Given the description of an element on the screen output the (x, y) to click on. 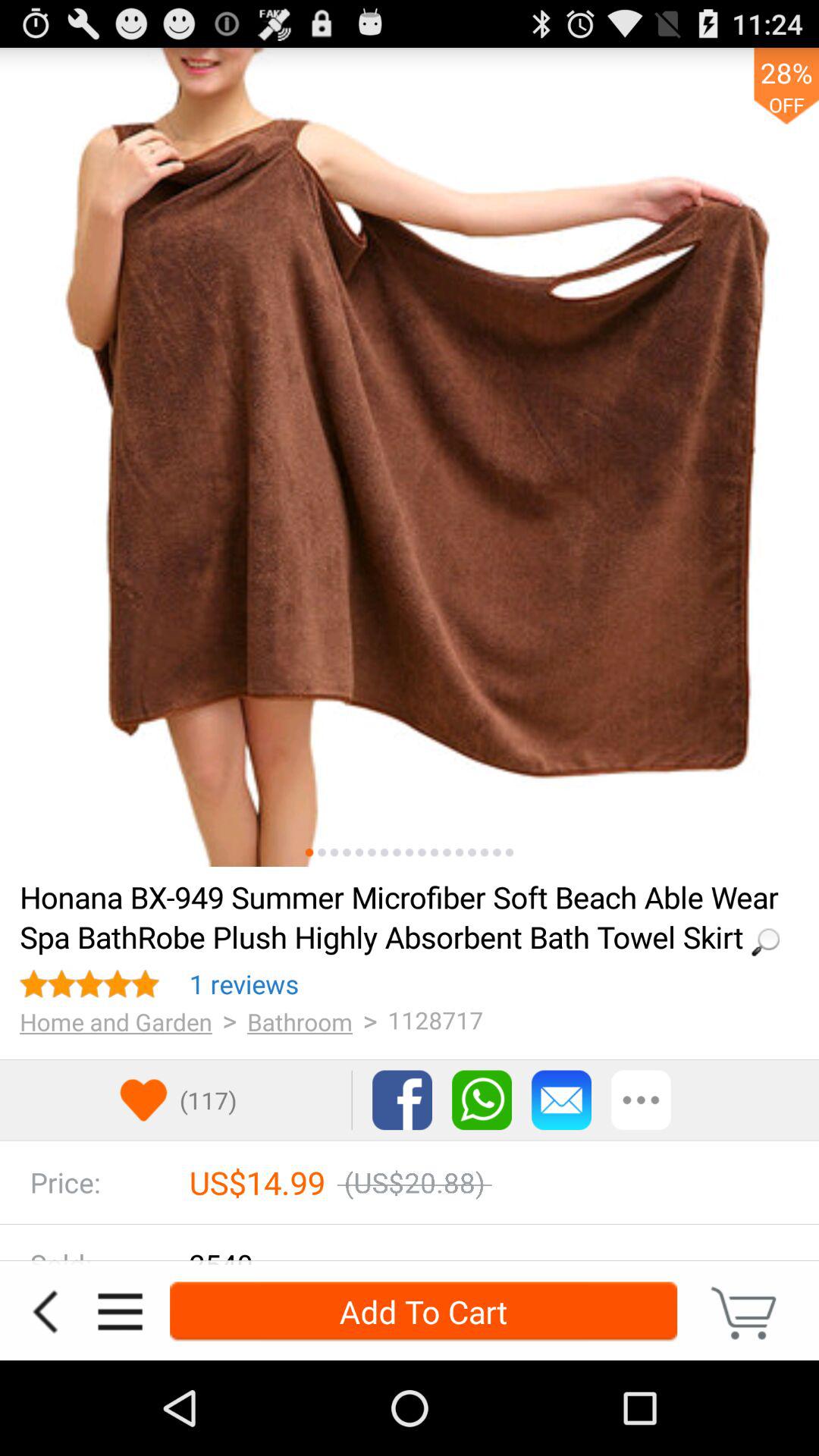
backpage (45, 1311)
